Given the description of an element on the screen output the (x, y) to click on. 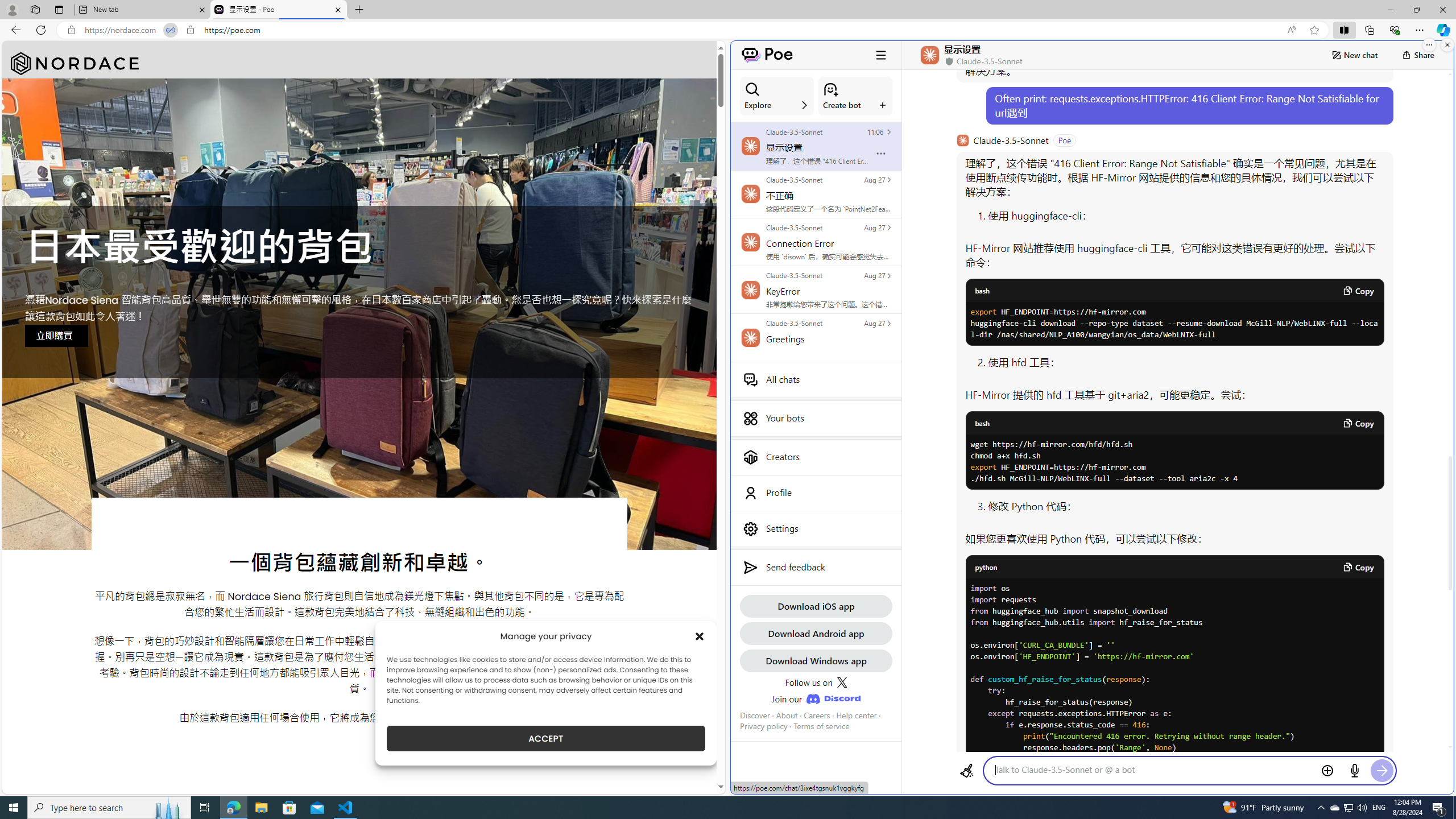
Download Android app (815, 633)
More options. (1428, 45)
Discover (754, 714)
Download Windows app (815, 660)
Share (1417, 54)
Settings (815, 528)
Settings and more (Alt+F) (1419, 29)
Refresh (40, 29)
Create bot (855, 95)
ACCEPT (545, 738)
Privacy policy (763, 726)
New tab (142, 9)
Class: FollowTwitterLink_twitterIconBlack__SS_7V (842, 682)
